Given the description of an element on the screen output the (x, y) to click on. 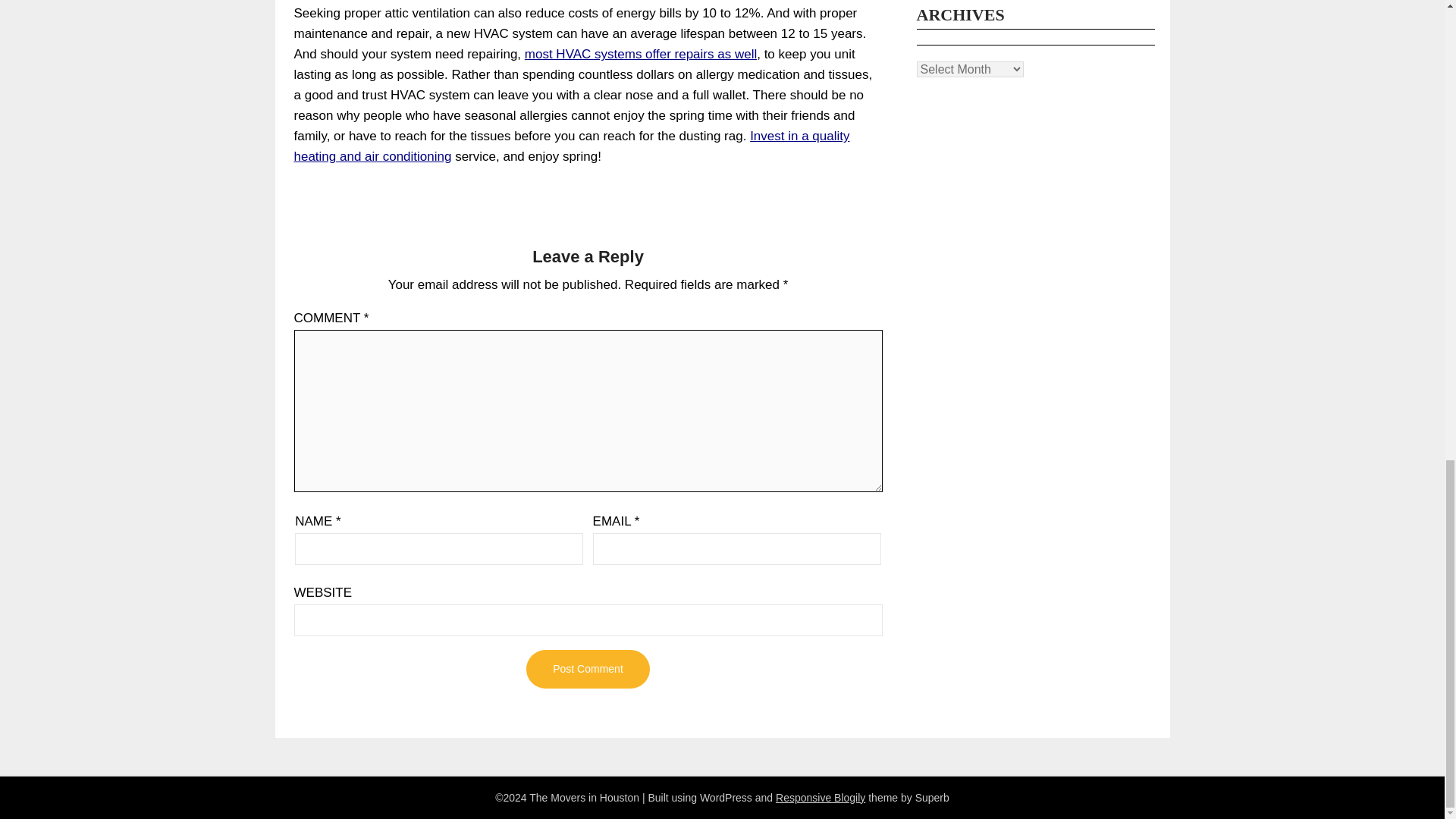
Responsive Blogily (820, 797)
Hvac systems (572, 145)
For more info on Hvac ductwork (640, 53)
Invest in a quality heating and air conditioning (572, 145)
Post Comment (587, 669)
most HVAC systems offer repairs as well (640, 53)
Post Comment (587, 669)
